Given the description of an element on the screen output the (x, y) to click on. 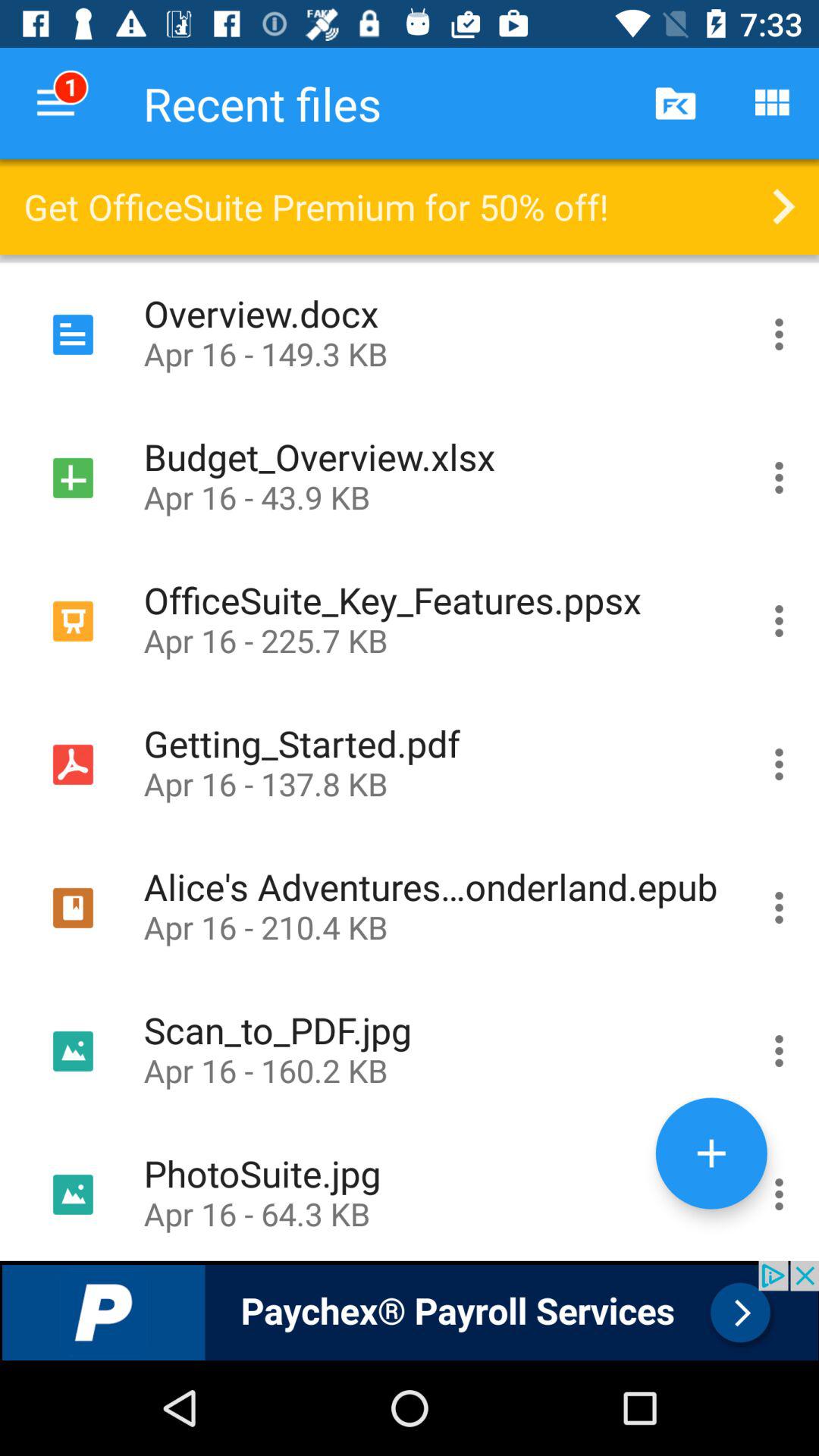
open more option (779, 764)
